Given the description of an element on the screen output the (x, y) to click on. 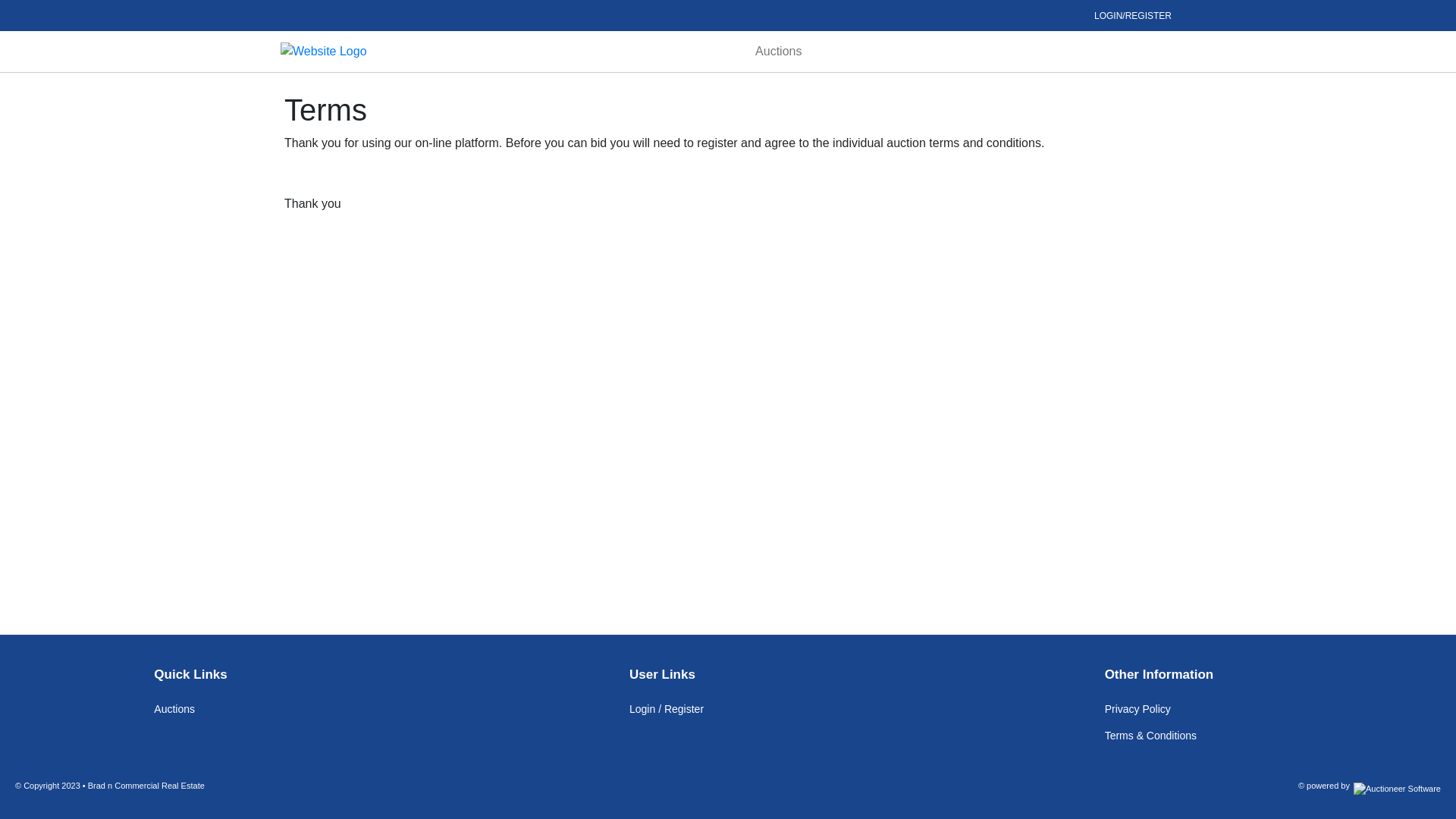
Login / Register Element type: text (666, 709)
Auctions Element type: text (173, 709)
Terms & Conditions Element type: text (1150, 734)
Auctions Element type: text (777, 51)
Go to homepage Element type: hover (323, 49)
Privacy Policy Element type: text (1137, 709)
